Given the description of an element on the screen output the (x, y) to click on. 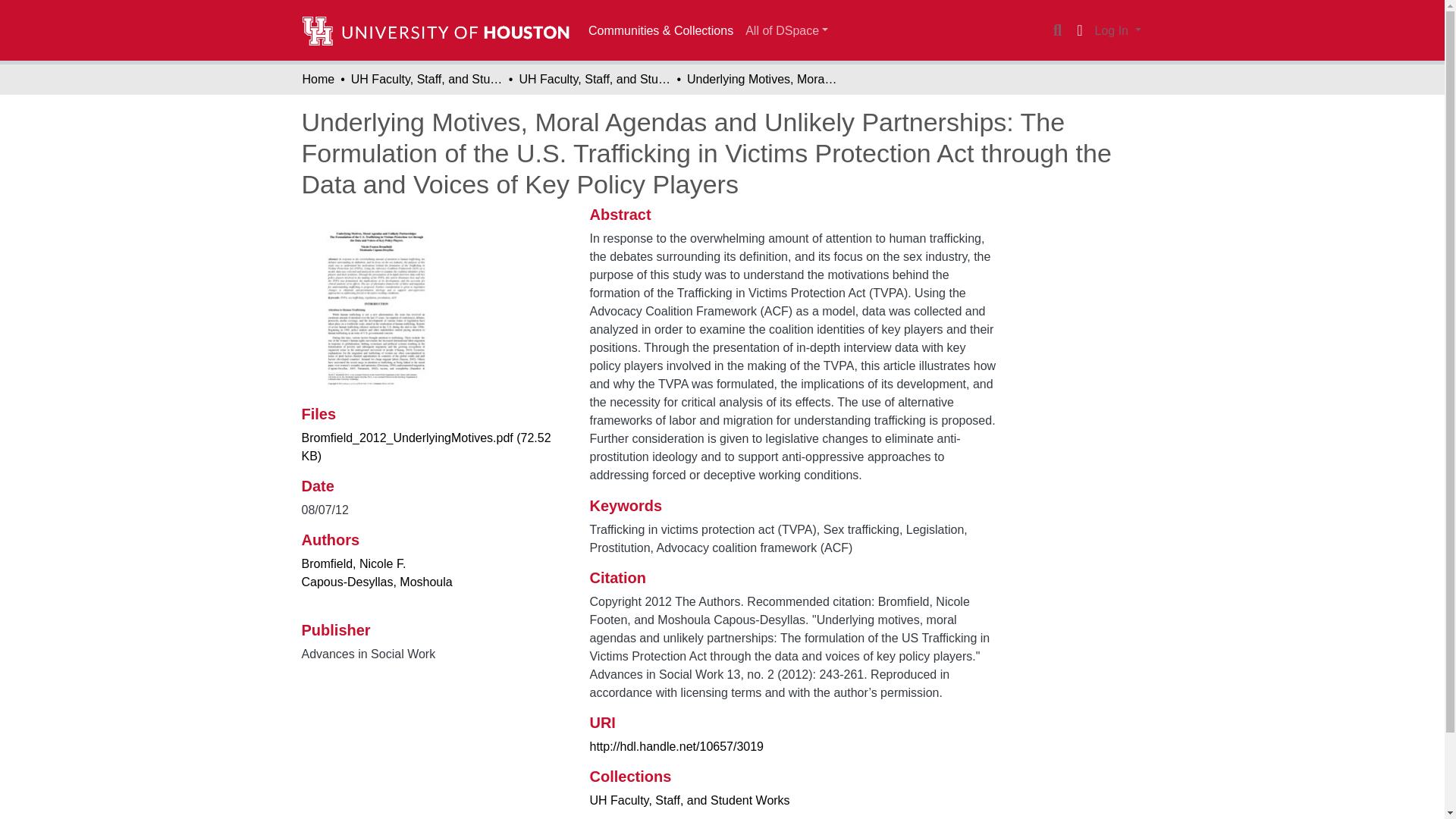
All of DSpace (786, 30)
Language switch (1079, 30)
UH Faculty, Staff, and Student Works (426, 79)
Search (1057, 30)
Bromfield, Nicole F. (353, 563)
Capous-Desyllas, Moshoula (376, 581)
UH Faculty, Staff, and Student Works (593, 79)
Home (317, 79)
Log In (1117, 30)
UH Faculty, Staff, and Student Works (689, 799)
